Given the description of an element on the screen output the (x, y) to click on. 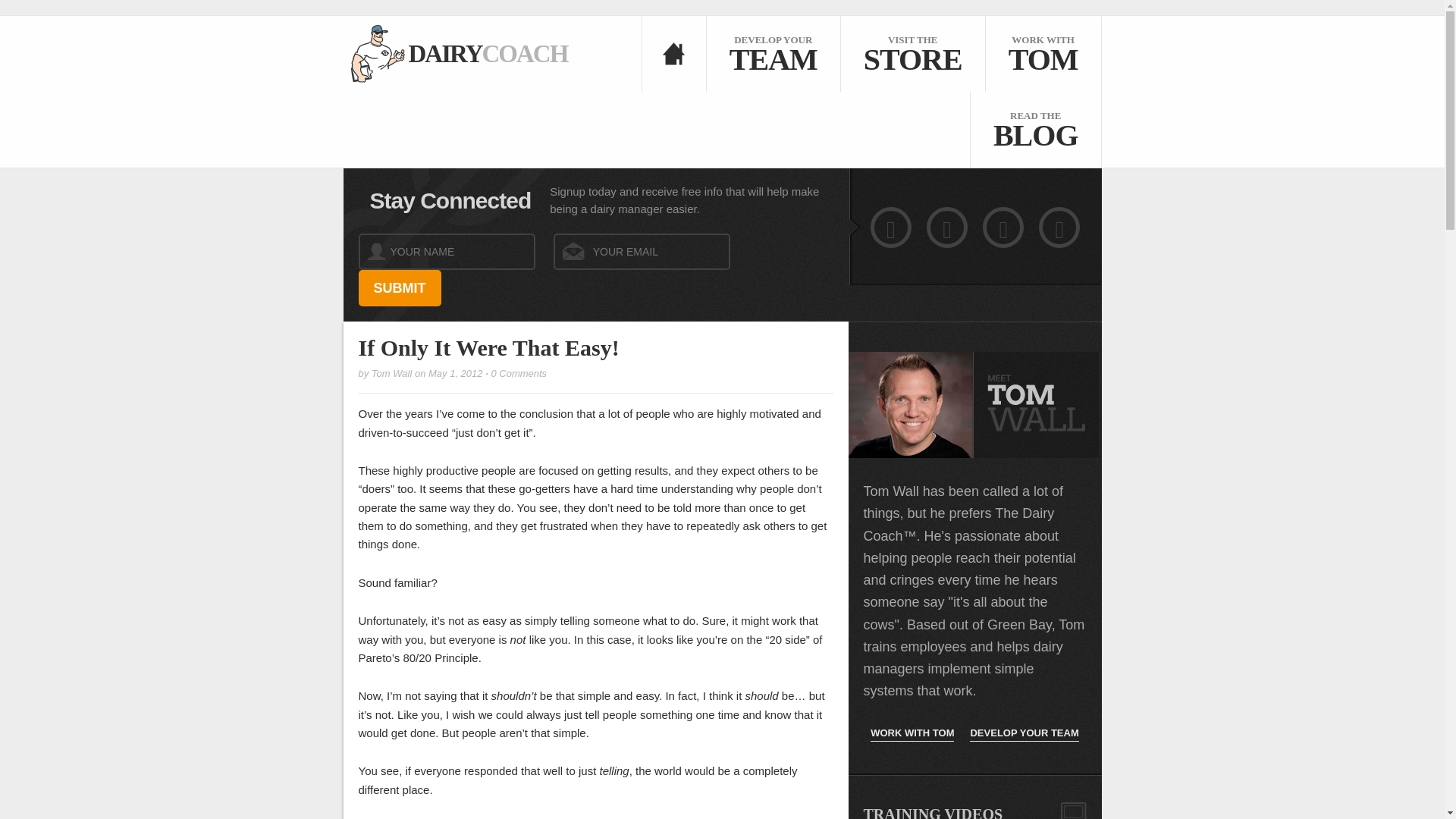
DAIRYCOACH (454, 53)
Submit (399, 288)
WORK WITH TOM (911, 733)
0 Comments (1034, 129)
Tom Wall (518, 373)
Submit (391, 373)
DEVELOP YOUR TEAM (399, 288)
Dairy Coach (1023, 733)
